Given the description of an element on the screen output the (x, y) to click on. 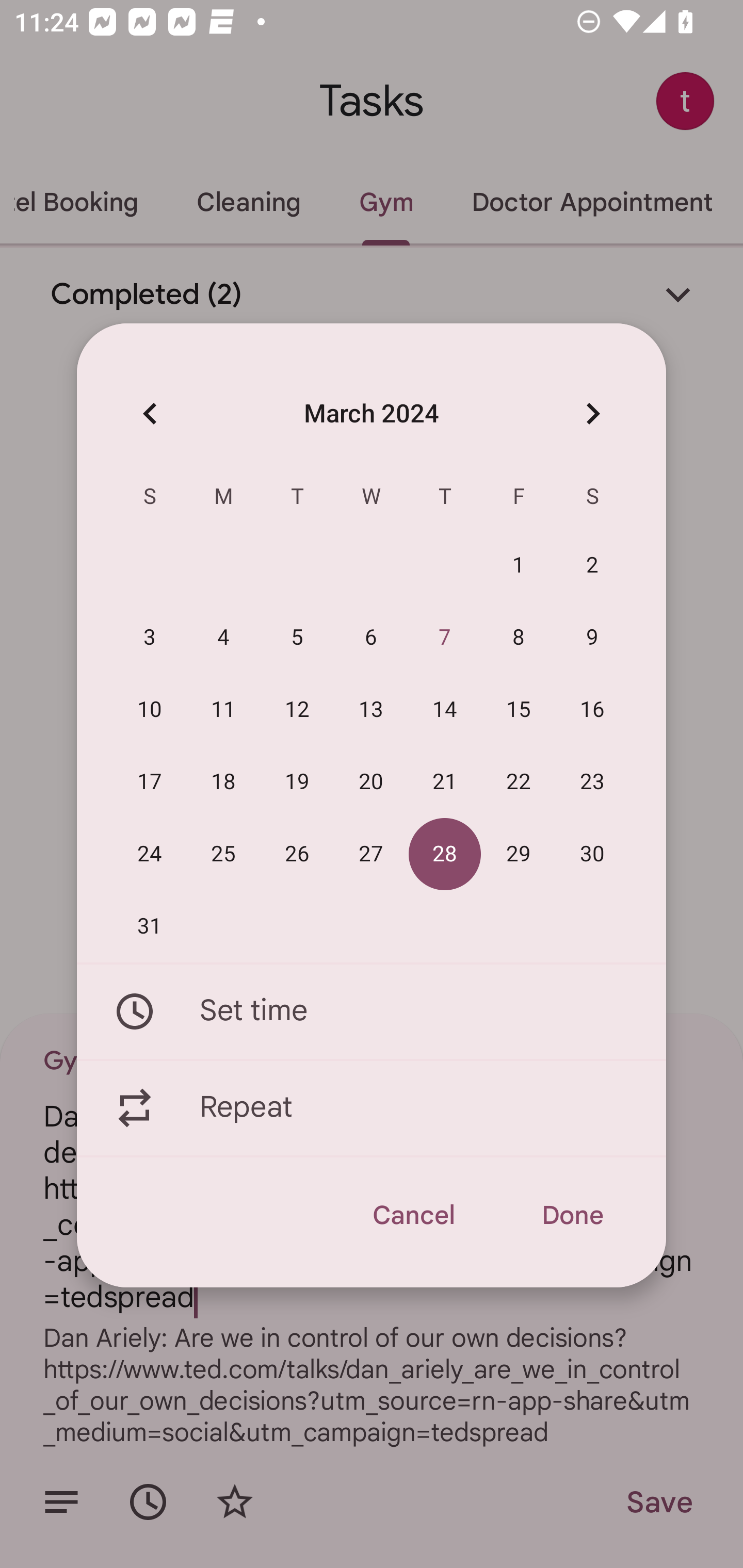
Previous month (149, 413)
Next month (592, 413)
1 01 March 2024 (518, 565)
2 02 March 2024 (592, 565)
3 03 March 2024 (149, 638)
4 04 March 2024 (223, 638)
5 05 March 2024 (297, 638)
6 06 March 2024 (370, 638)
7 07 March 2024 (444, 638)
8 08 March 2024 (518, 638)
9 09 March 2024 (592, 638)
10 10 March 2024 (149, 710)
11 11 March 2024 (223, 710)
12 12 March 2024 (297, 710)
13 13 March 2024 (370, 710)
14 14 March 2024 (444, 710)
15 15 March 2024 (518, 710)
16 16 March 2024 (592, 710)
17 17 March 2024 (149, 782)
18 18 March 2024 (223, 782)
19 19 March 2024 (297, 782)
20 20 March 2024 (370, 782)
21 21 March 2024 (444, 782)
22 22 March 2024 (518, 782)
23 23 March 2024 (592, 782)
24 24 March 2024 (149, 854)
25 25 March 2024 (223, 854)
26 26 March 2024 (297, 854)
27 27 March 2024 (370, 854)
28 28 March 2024 (444, 854)
29 29 March 2024 (518, 854)
30 30 March 2024 (592, 854)
31 31 March 2024 (149, 926)
Set time (371, 1011)
Repeat (371, 1108)
Cancel (412, 1215)
Done (571, 1215)
